Given the description of an element on the screen output the (x, y) to click on. 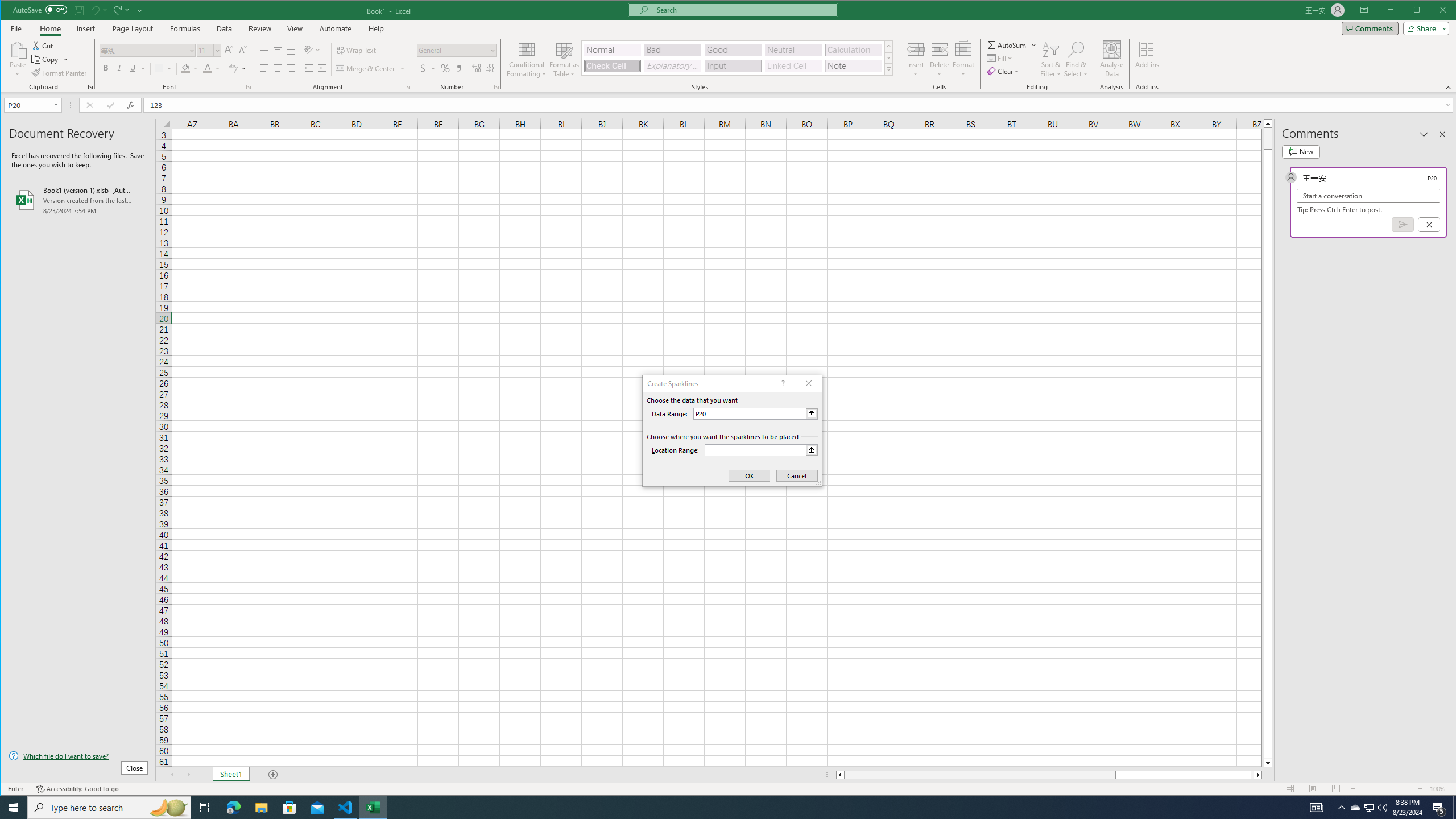
Cancel (1428, 224)
Font (143, 50)
Row Down (887, 57)
Copy (45, 59)
Bottom Border (158, 68)
Increase Decimal (476, 68)
Comma Style (458, 68)
Number Format (453, 50)
Show Phonetic Field (237, 68)
